Given the description of an element on the screen output the (x, y) to click on. 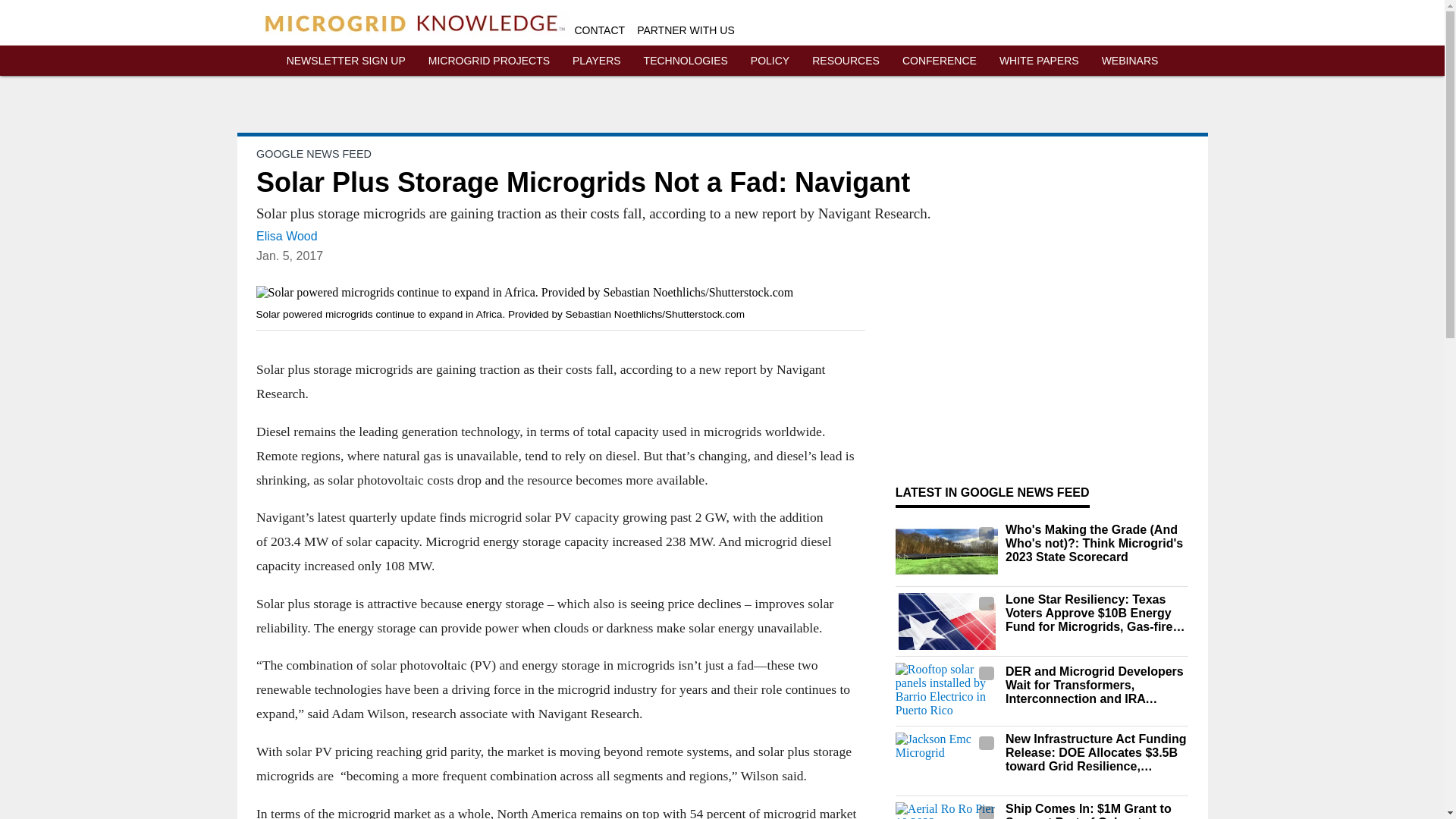
TECHNOLOGIES (685, 60)
PARTNER WITH US (686, 30)
GOOGLE NEWS FEED (313, 153)
Aerial Ro Ro Pier 10 2023 (946, 810)
Texas Shutterstock (946, 621)
LATEST IN GOOGLE NEWS FEED (992, 492)
Connecticut Project (946, 551)
PLAYERS (596, 60)
CONFERENCE (939, 60)
WHITE PAPERS (1038, 60)
RESOURCES (845, 60)
WEBINARS (1130, 60)
POLICY (770, 60)
Jackson Emc Microgrid (946, 760)
